Given the description of an element on the screen output the (x, y) to click on. 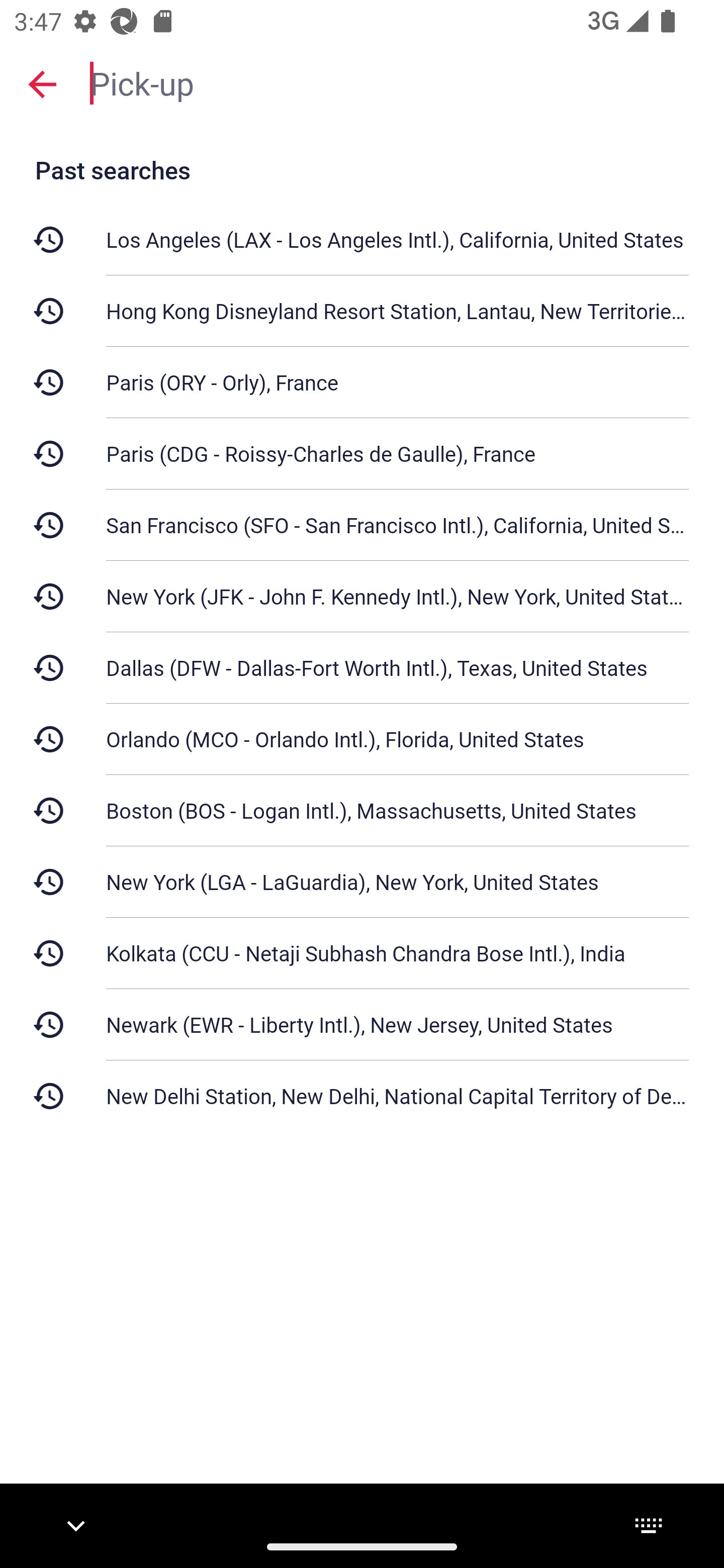
Pick-up,  (397, 82)
Close search screen (41, 83)
